Given the description of an element on the screen output the (x, y) to click on. 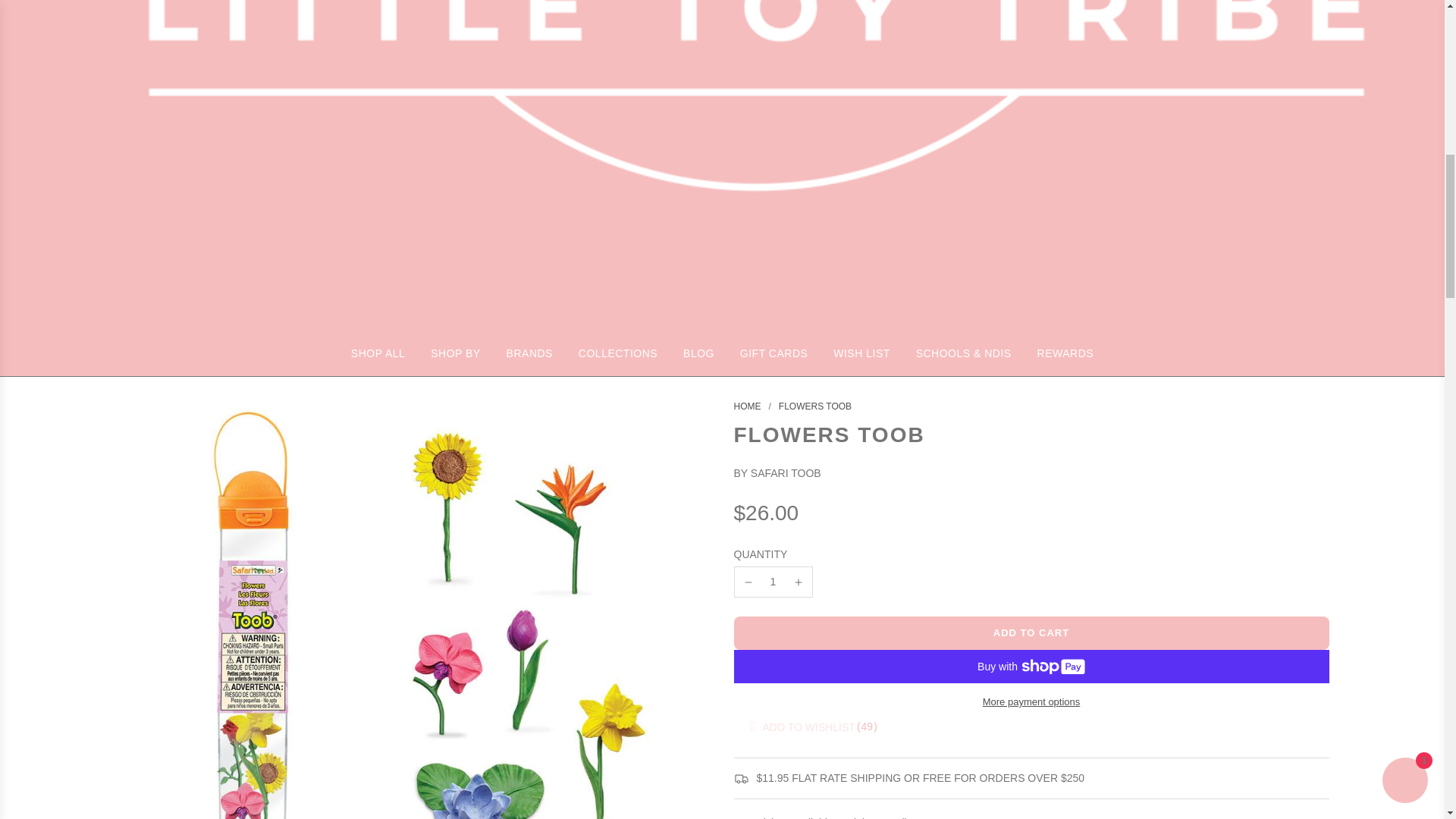
1 (772, 581)
by Safari Toob (777, 472)
Back to the frontpage (747, 405)
